Given the description of an element on the screen output the (x, y) to click on. 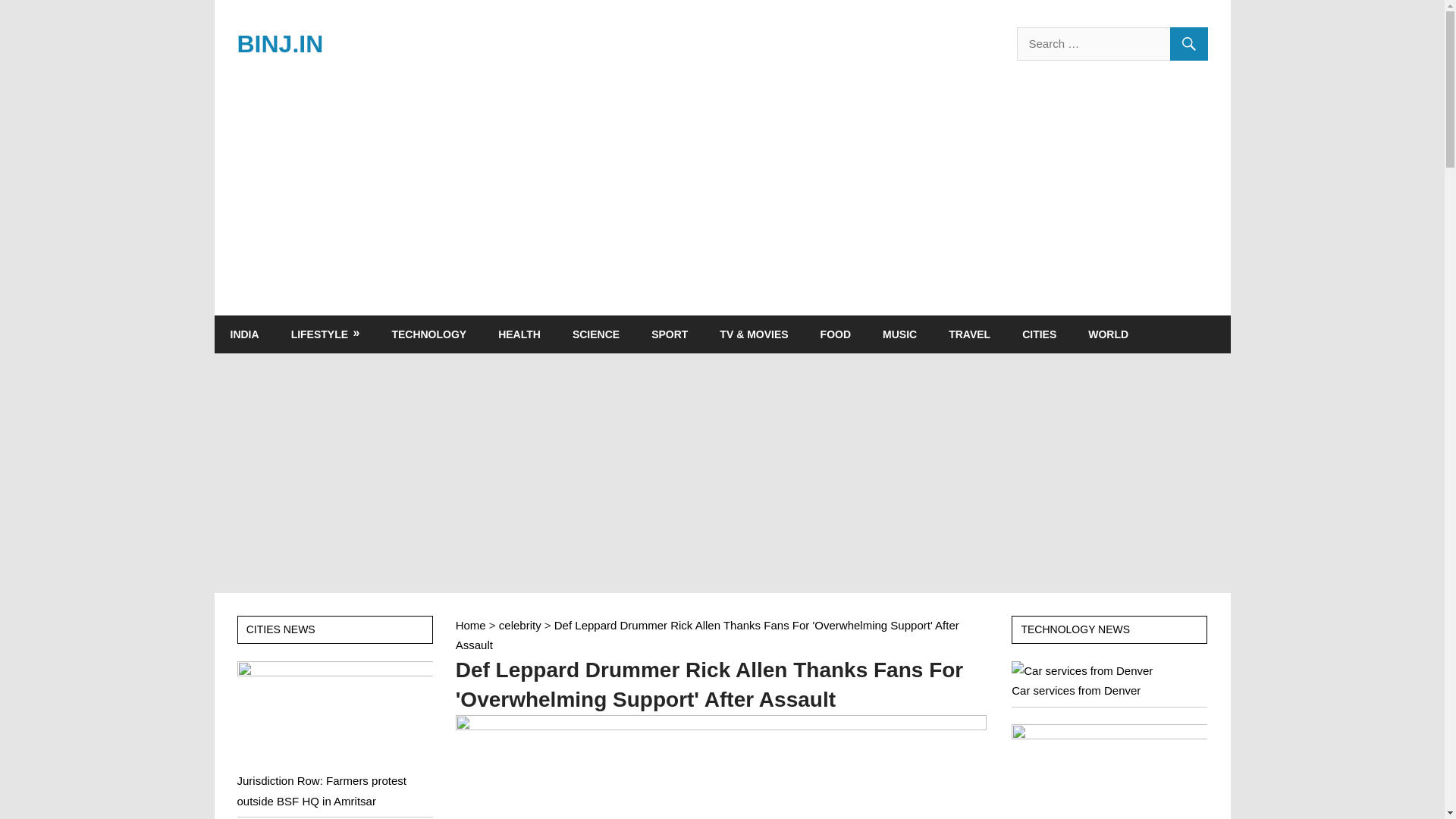
Go to the celebrity category (520, 625)
Home (470, 625)
celebrity (520, 625)
LIFESTYLE (325, 333)
BINJ.IN (279, 43)
MUSIC (899, 333)
TRAVEL (969, 333)
SCIENCE (595, 333)
HEALTH (518, 333)
SPORT (668, 333)
INDIA (244, 333)
Search for: (1111, 43)
CITIES (1038, 333)
